Given the description of an element on the screen output the (x, y) to click on. 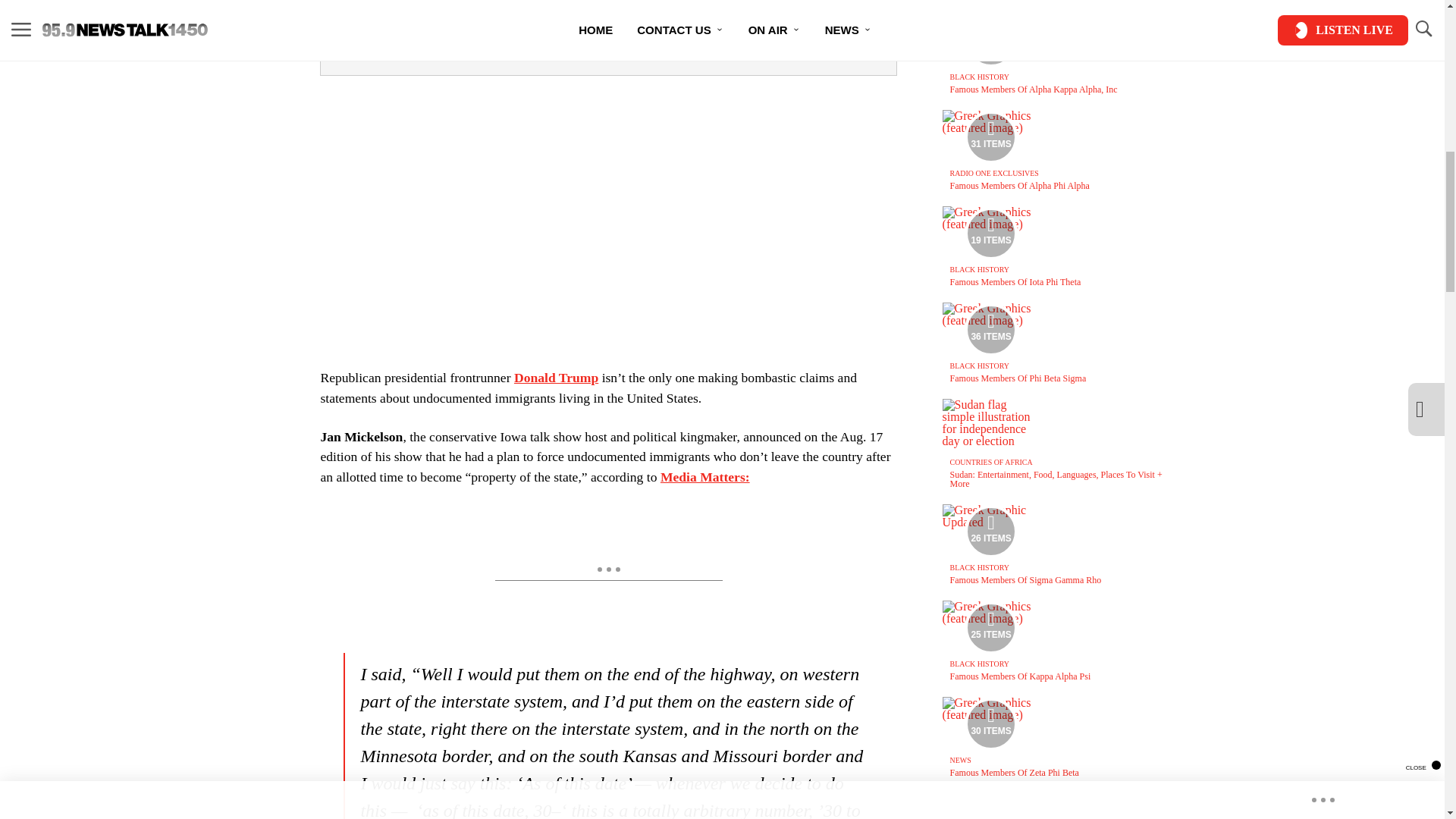
Donald Trump (555, 377)
Media Playlist (990, 136)
Media Matters: (705, 476)
Media Playlist (990, 329)
Media Playlist (990, 627)
Media Playlist (990, 233)
Media Playlist (990, 724)
Media Playlist (990, 531)
Media Playlist (990, 40)
